Given the description of an element on the screen output the (x, y) to click on. 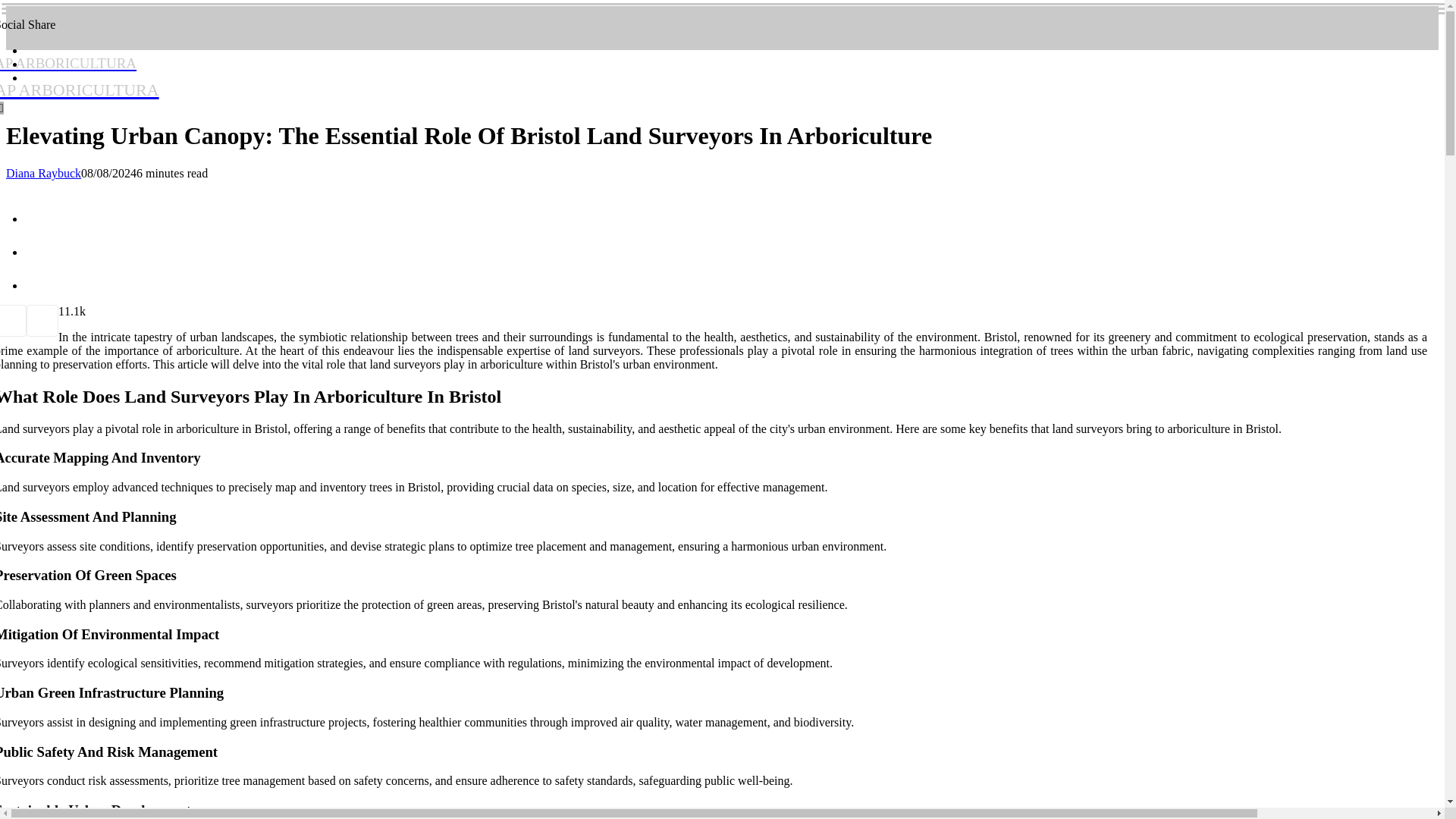
Diana Raybuck (43, 173)
Posts by Diana Raybuck (79, 75)
